Given the description of an element on the screen output the (x, y) to click on. 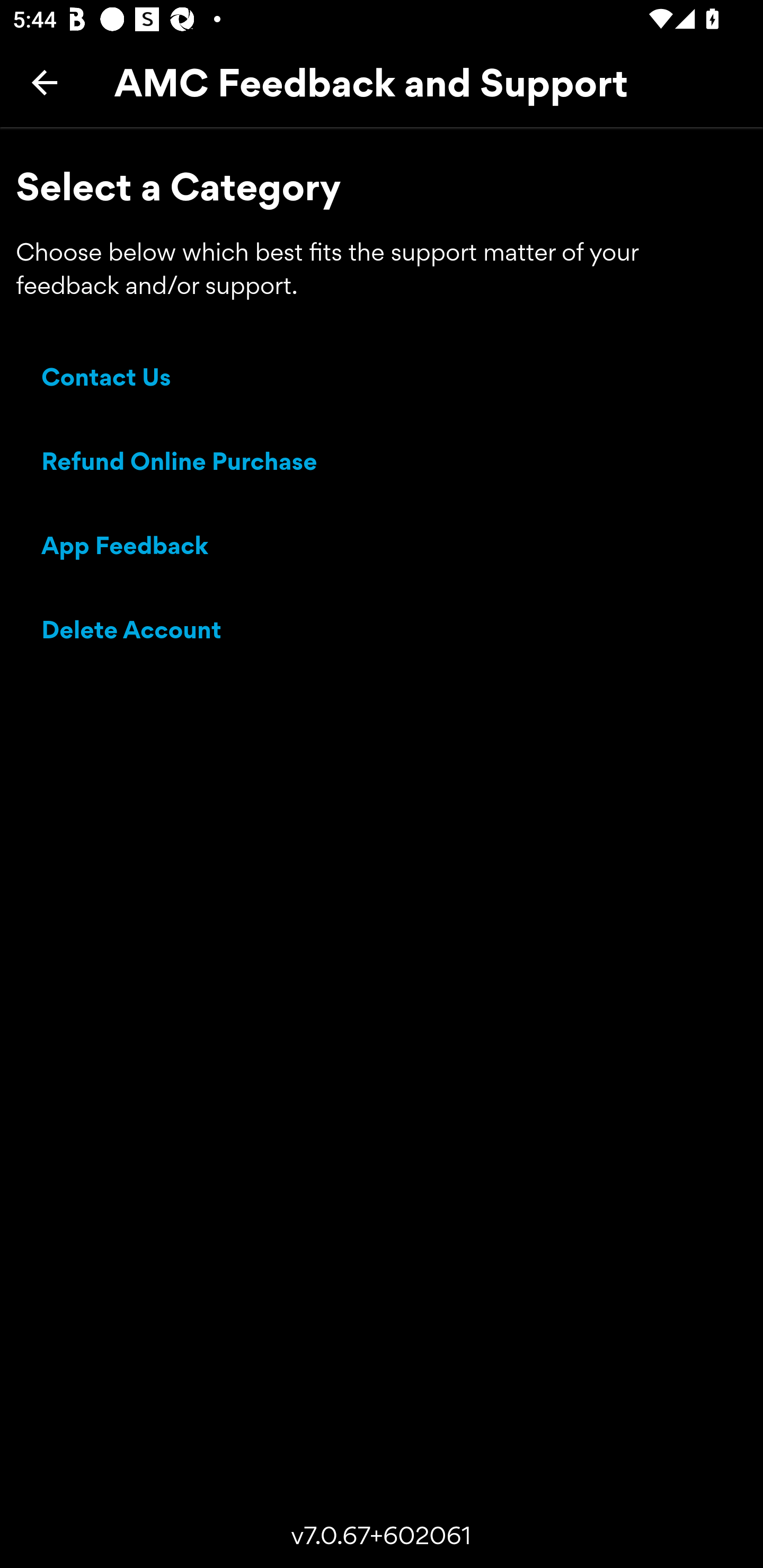
Back (44, 82)
Contact Us (106, 379)
Refund Online Purchase (179, 463)
App Feedback (125, 547)
Delete Account (131, 632)
